Given the description of an element on the screen output the (x, y) to click on. 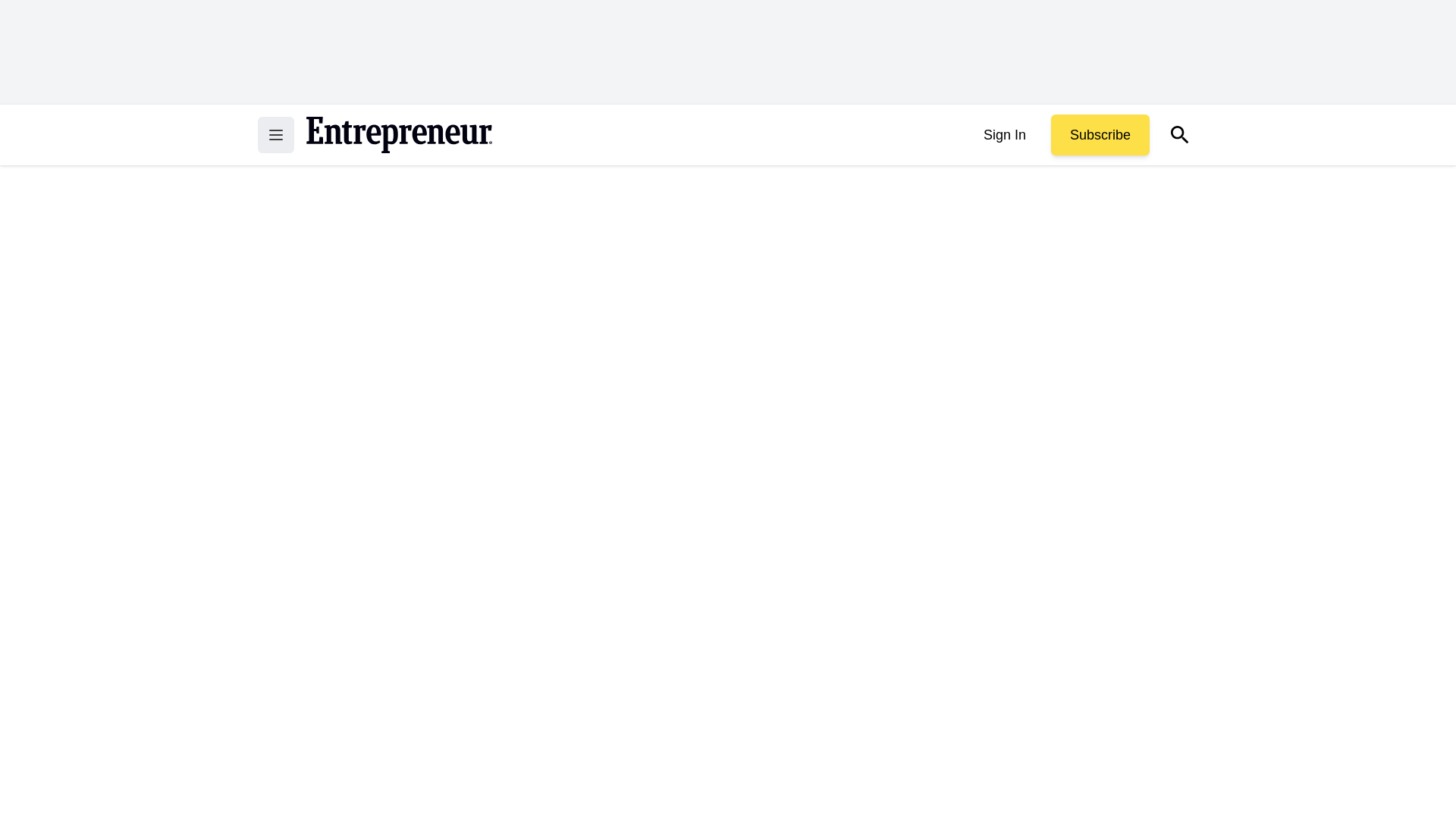
Subscribe (1100, 134)
Return to the home page (398, 135)
Sign In (1004, 134)
